Given the description of an element on the screen output the (x, y) to click on. 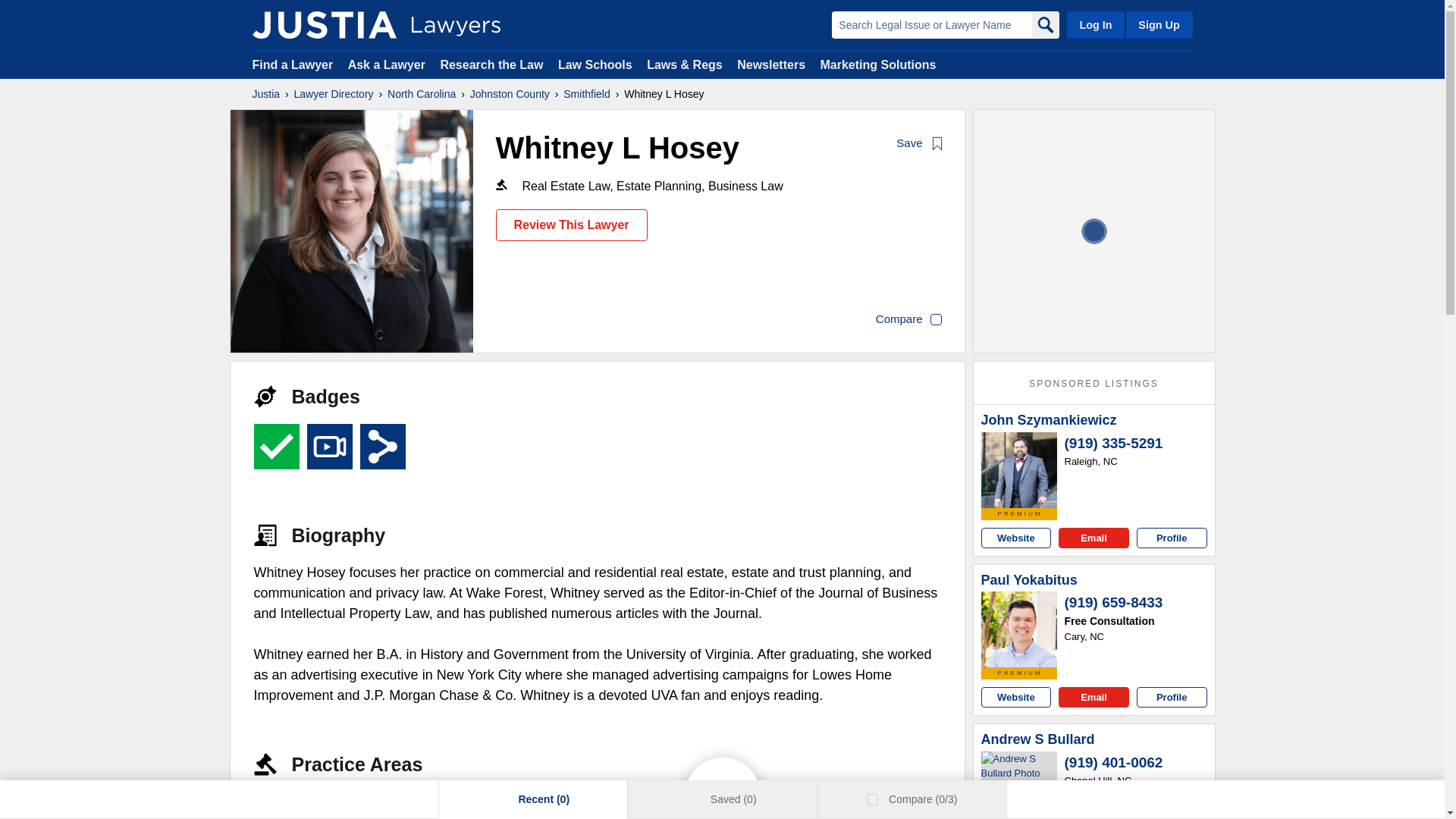
Smithfield (586, 93)
Find a Lawyer (292, 64)
John Szymankiewicz (1048, 420)
Law Schools (594, 64)
Marketing Solutions (877, 64)
Johnston County (510, 93)
John Szymankiewicz (1019, 469)
Ask a Lawyer (388, 64)
Paul Yokabitus (1019, 629)
Whitney L Hosey (351, 230)
Lawyer Directory (334, 93)
Paul Yokabitus (1029, 580)
Research the Law (491, 64)
North Carolina (421, 93)
Log In (1094, 24)
